Given the description of an element on the screen output the (x, y) to click on. 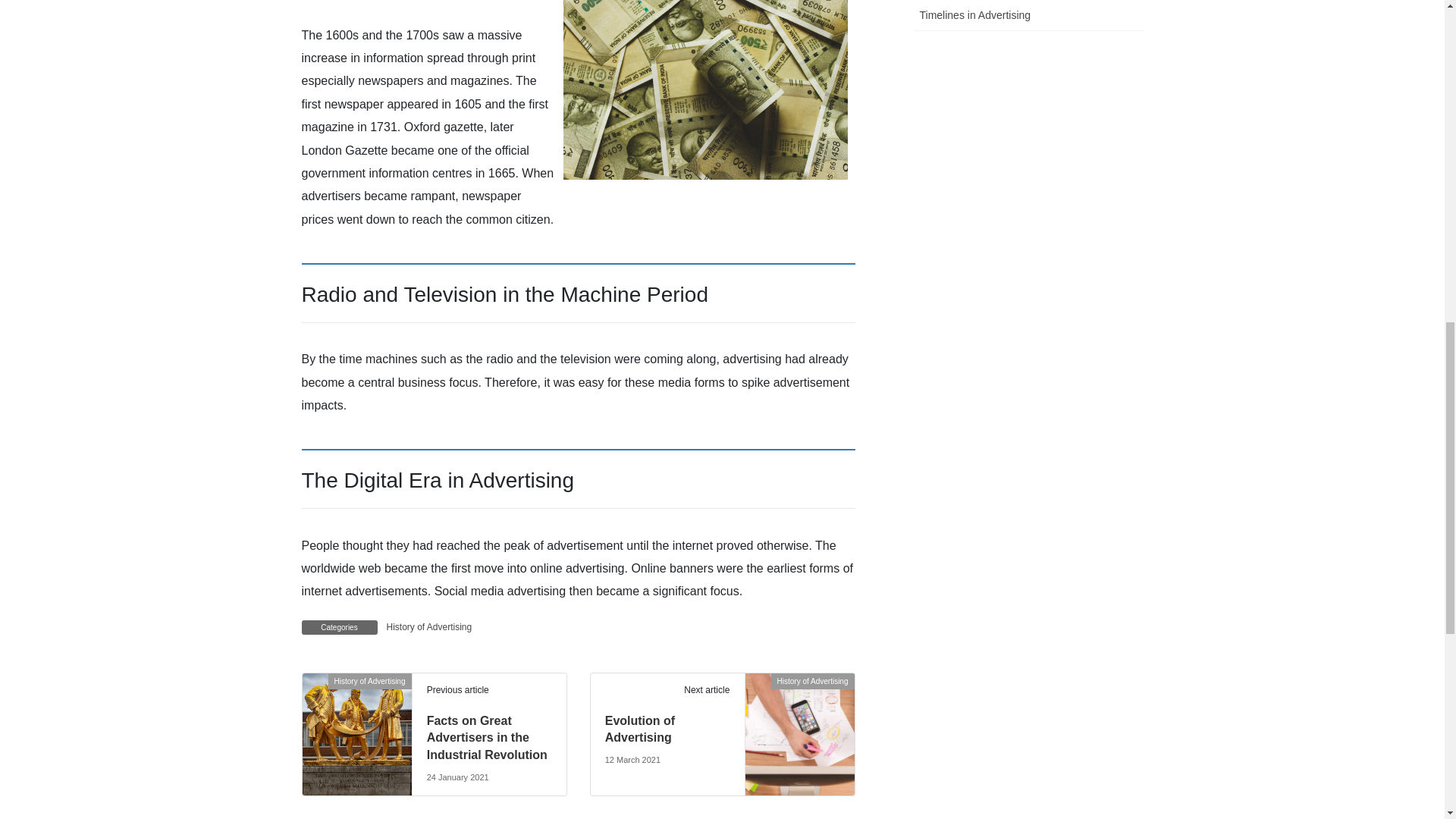
Evolution of Advertising (640, 728)
Timelines in Advertising (1028, 15)
History of Advertising (429, 626)
Facts on Great Advertisers in the Industrial Revolution (486, 737)
History of Advertising (355, 712)
History of Advertising (798, 707)
